Given the description of an element on the screen output the (x, y) to click on. 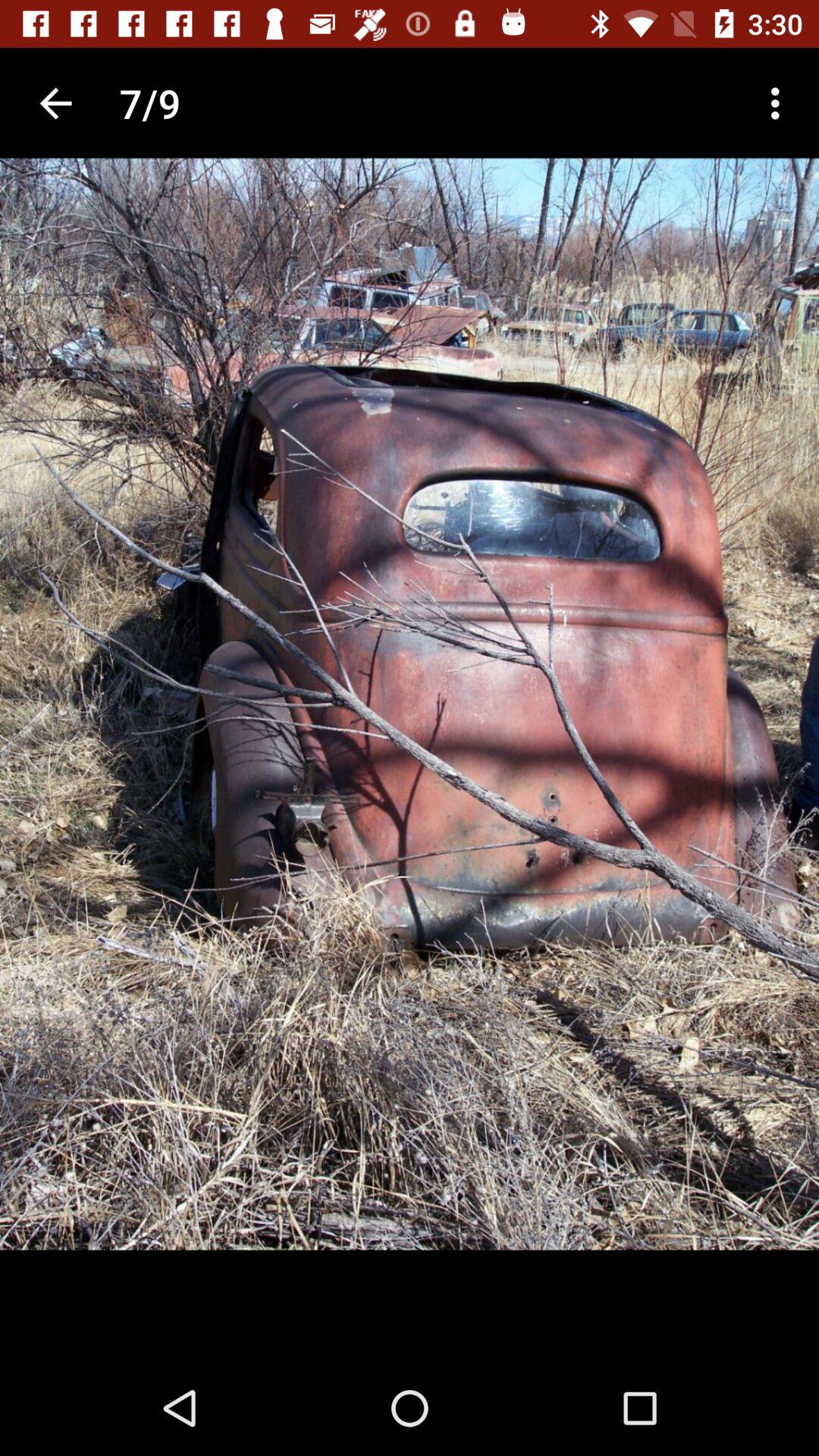
turn off the app to the left of 7/9 (55, 103)
